Given the description of an element on the screen output the (x, y) to click on. 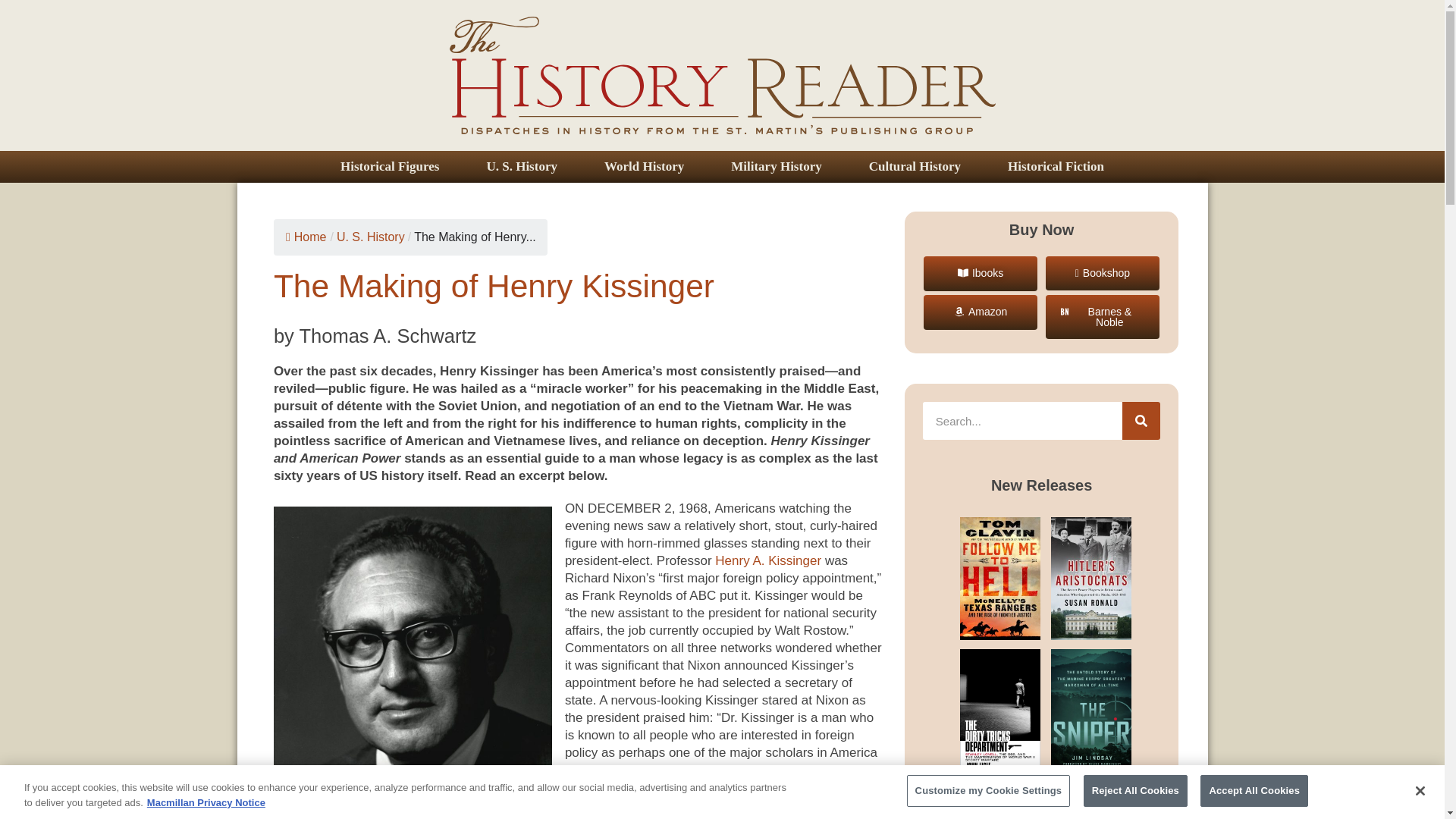
Historical Figures (390, 166)
luck of draw (1100, 800)
The Making of Henry Kissinger (474, 236)
Bookshop (1101, 273)
Historical Fiction (1055, 166)
Cultural History (914, 166)
Henry A. Kissinger (767, 560)
Ibooks (979, 273)
Amazon (979, 312)
Category Name (370, 236)
U. S. History (370, 236)
africa town (981, 800)
Military History (775, 166)
Home (305, 236)
U. S. History (521, 166)
